Given the description of an element on the screen output the (x, y) to click on. 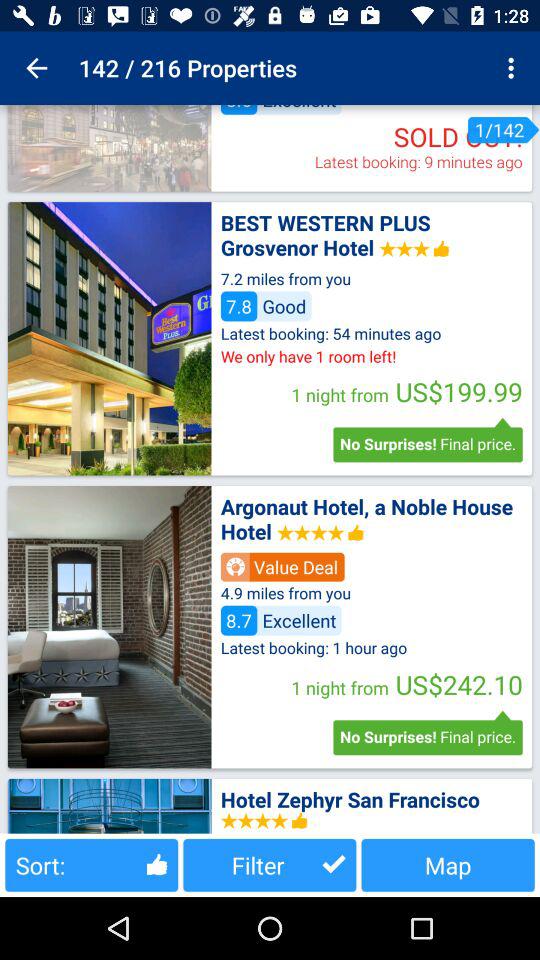
open sort:  item (91, 864)
